Given the description of an element on the screen output the (x, y) to click on. 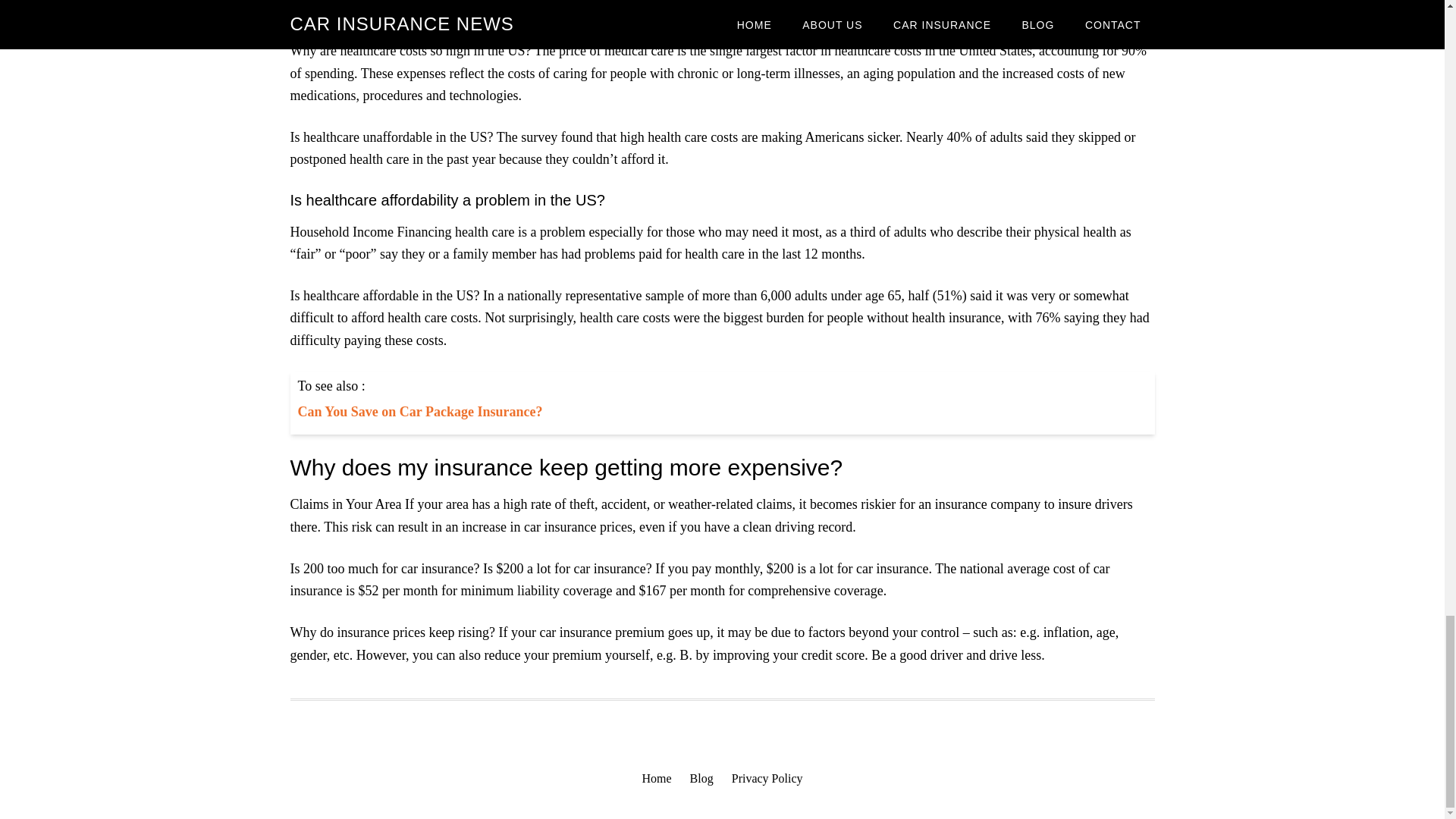
Privacy Policy (767, 778)
Home (656, 778)
Can You Save on Car Package Insurance? (419, 411)
Blog (701, 778)
